Given the description of an element on the screen output the (x, y) to click on. 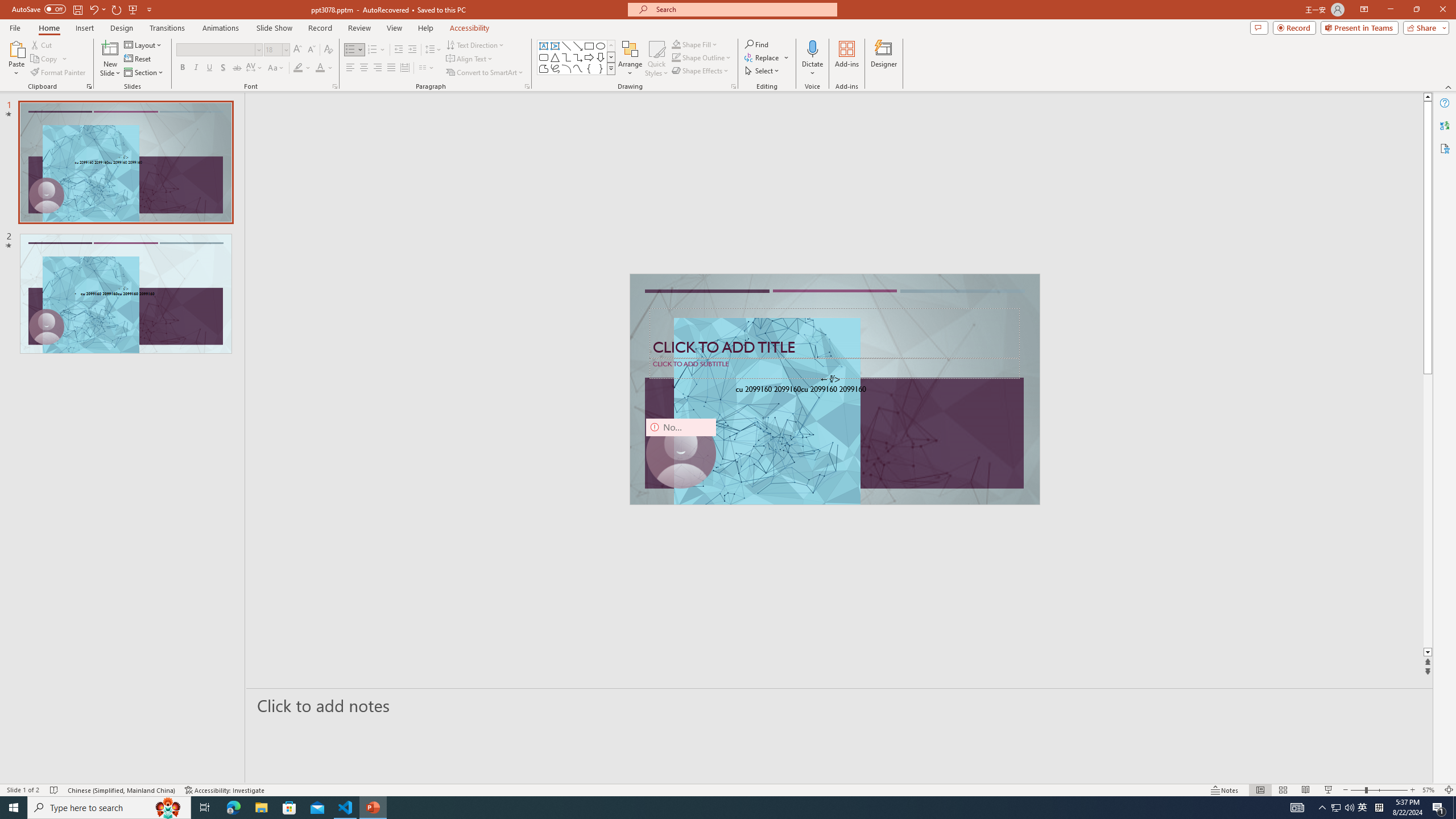
Designer (883, 58)
Row up (611, 45)
Bullets (354, 49)
Rectangle: Rounded Corners (543, 57)
An abstract genetic concept (834, 389)
Shape Outline Green, Accent 1 (675, 56)
Replace... (767, 56)
Arrange (630, 58)
Font Size (273, 49)
